Given the description of an element on the screen output the (x, y) to click on. 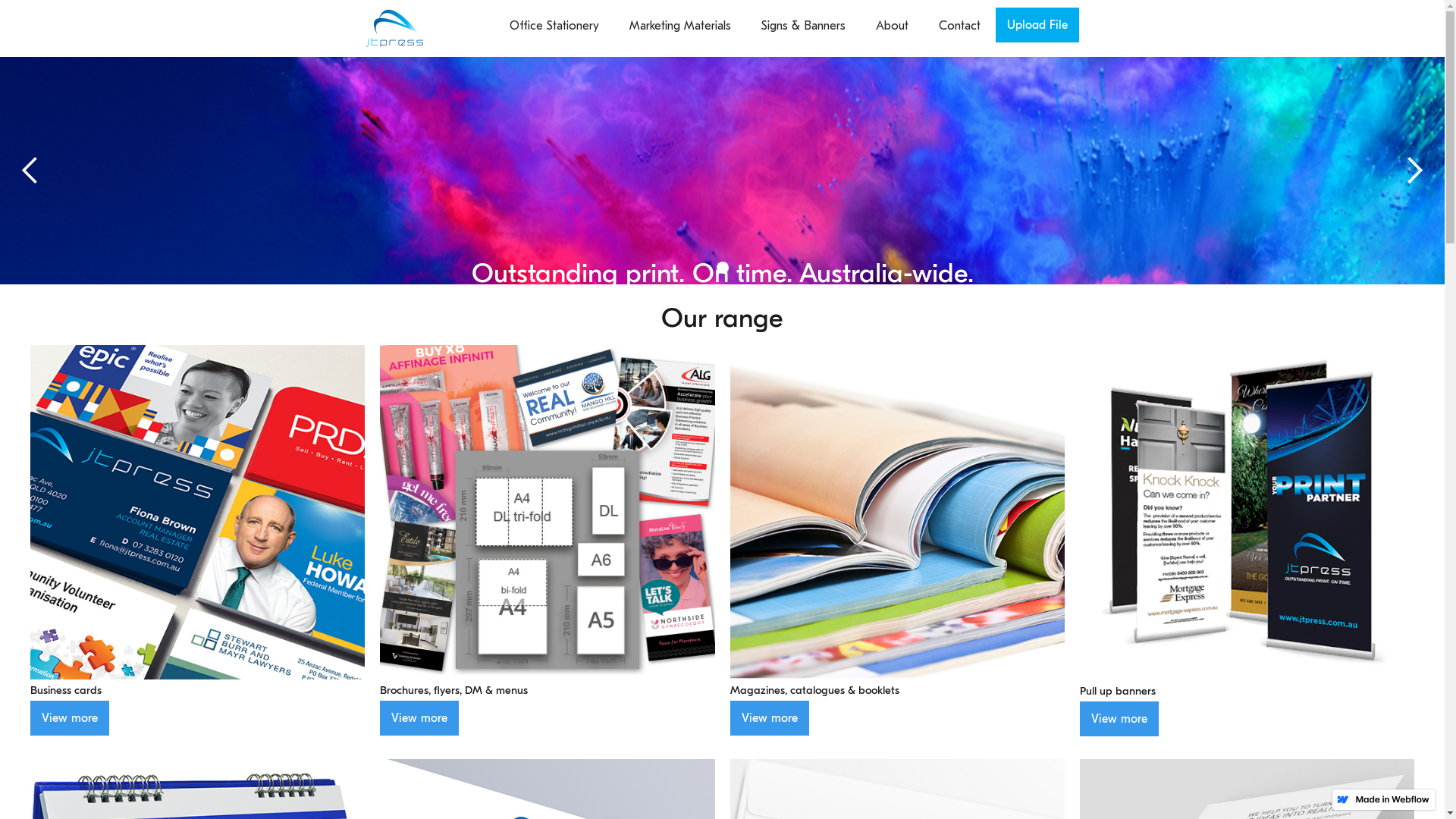
Contact Element type: text (959, 25)
About Element type: text (890, 25)
Upload File Element type: text (1036, 24)
View more Element type: text (418, 717)
Signs & Banners Element type: text (803, 25)
View more Element type: text (1118, 718)
Marketing Materials Element type: text (680, 25)
View more Element type: text (768, 717)
Office Stationery Element type: text (554, 25)
View more Element type: text (69, 717)
